Given the description of an element on the screen output the (x, y) to click on. 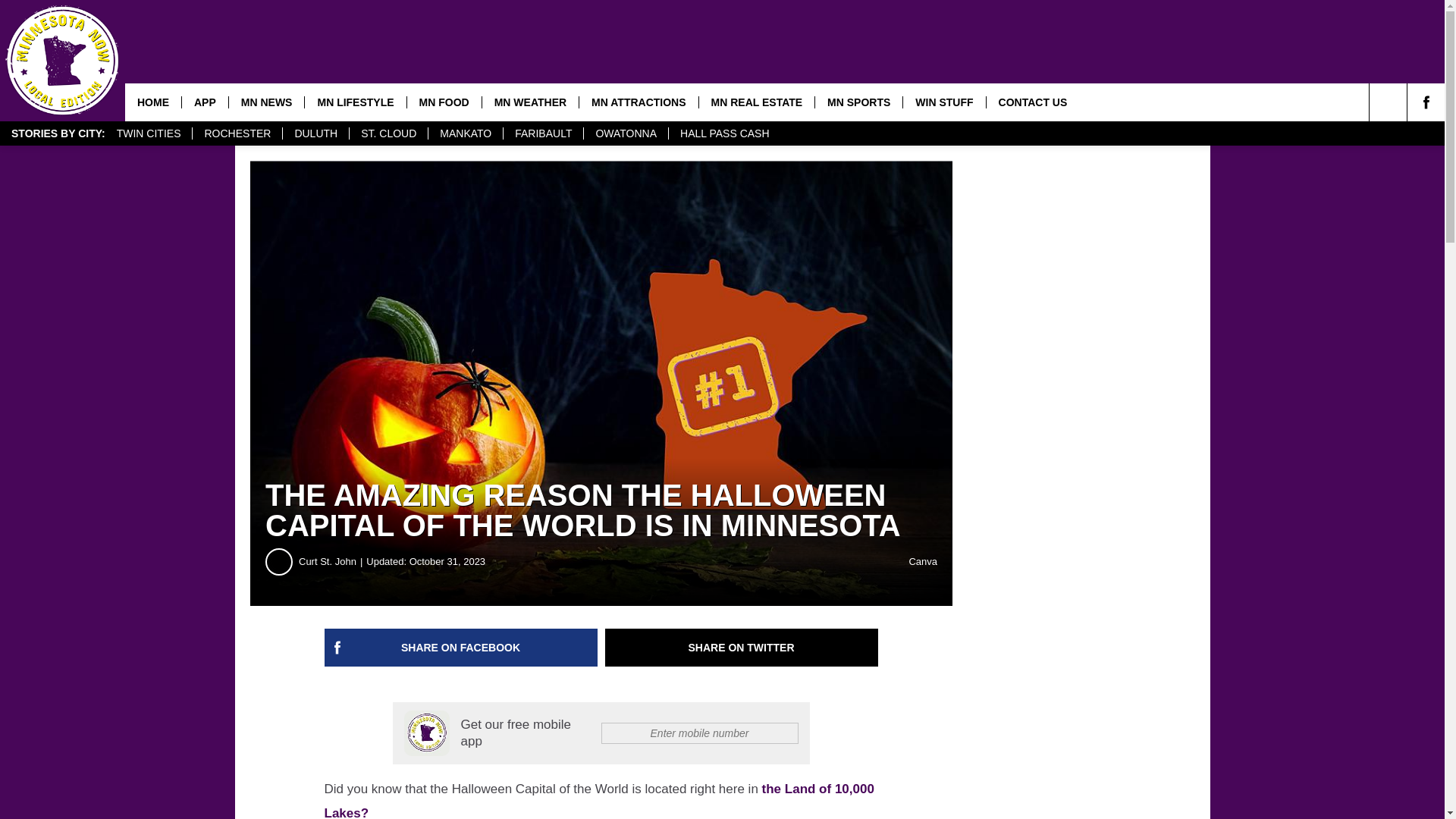
ST. CLOUD (388, 133)
TWIN CITIES (148, 133)
Share on Twitter (741, 647)
MN FOOD (443, 102)
SHARE ON FACEBOOK (460, 647)
OWATONNA (625, 133)
MN LIFESTYLE (355, 102)
Curt St. John (332, 561)
WIN STUFF (943, 102)
FARIBAULT (542, 133)
